Given the description of an element on the screen output the (x, y) to click on. 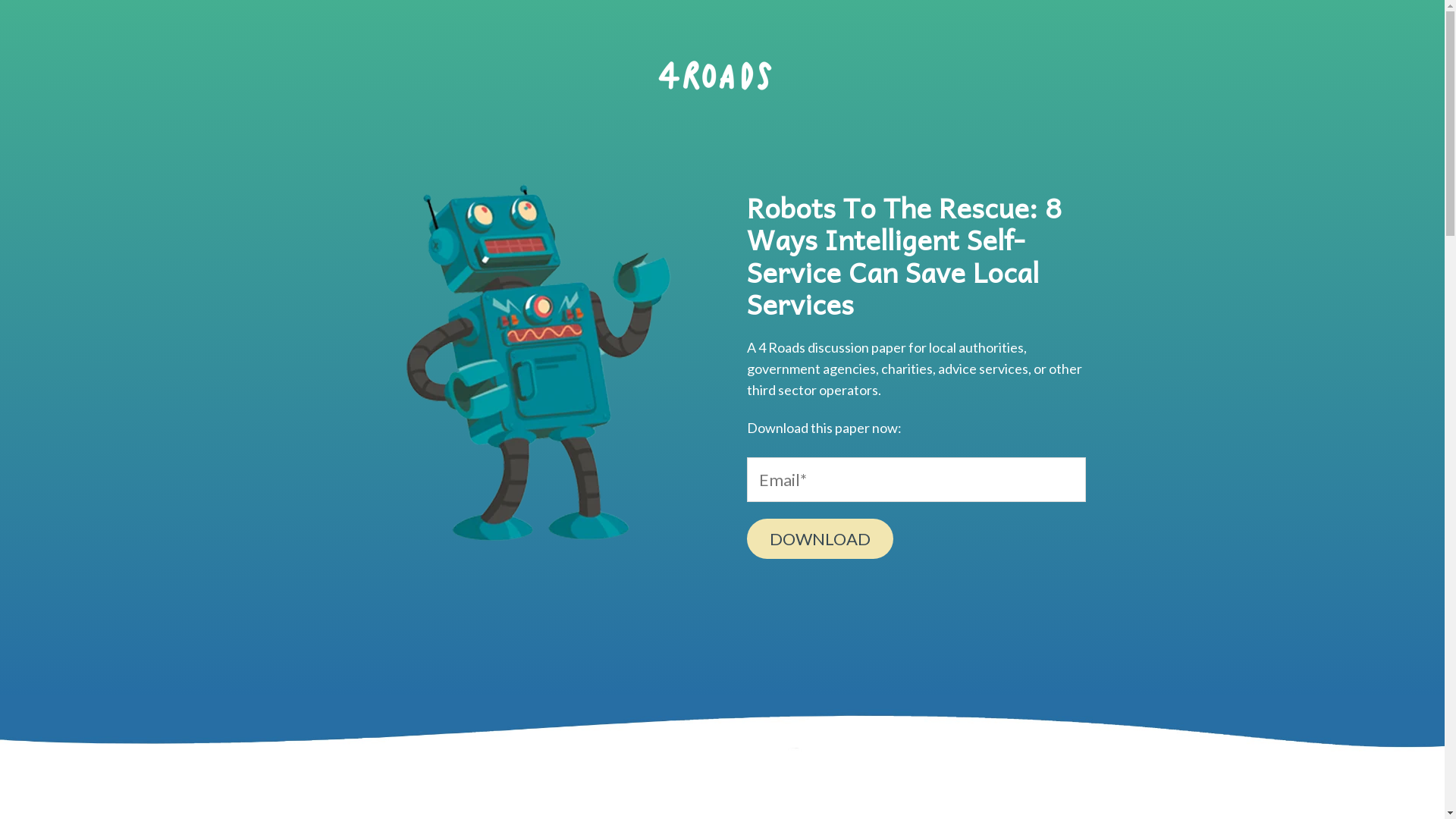
logo_1_White Element type: hover (714, 75)
Robot Element type: hover (528, 362)
Download Element type: text (819, 538)
Transition-shape-2-blue Element type: hover (722, 728)
